Given the description of an element on the screen output the (x, y) to click on. 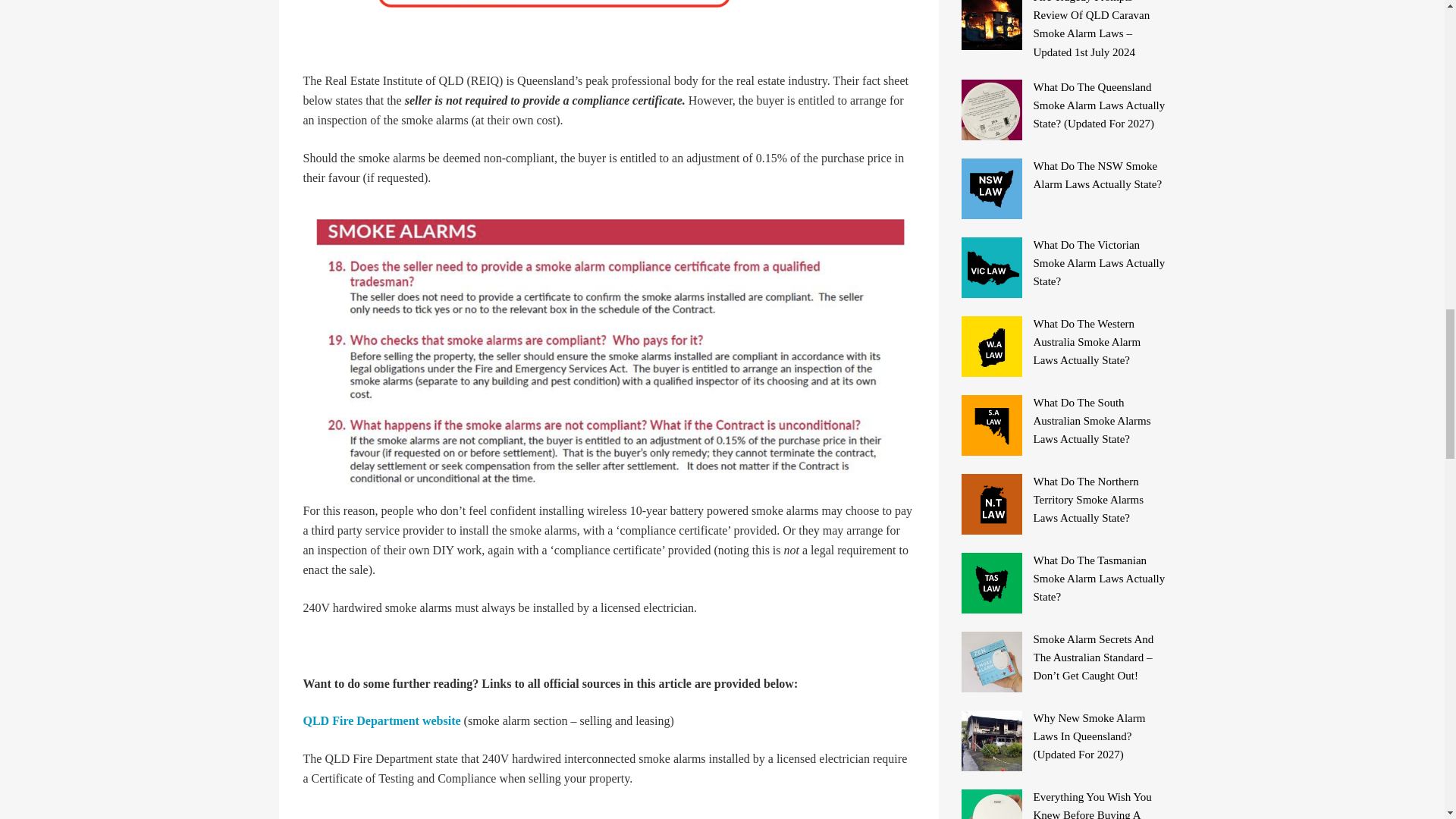
QLD Fire Department website (381, 720)
